Given the description of an element on the screen output the (x, y) to click on. 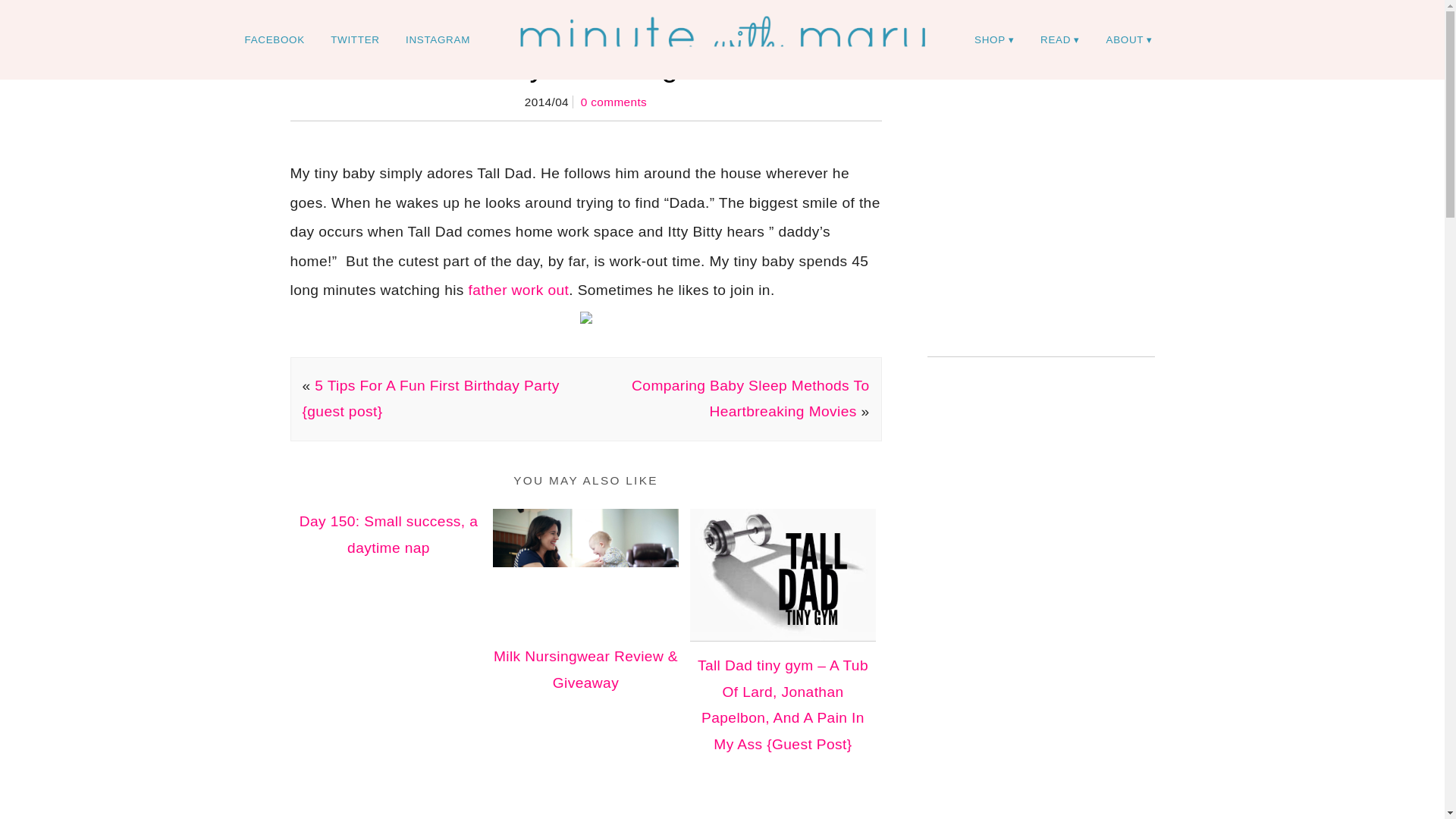
INSTAGRAM (437, 39)
Minute With Mary (721, 39)
ABOUT (1129, 39)
FACEBOOK (273, 39)
READ (1059, 39)
facebook (273, 39)
Baby P90x Yoga (585, 65)
instagram (437, 39)
twitter (354, 39)
SHOP (994, 39)
